Given the description of an element on the screen output the (x, y) to click on. 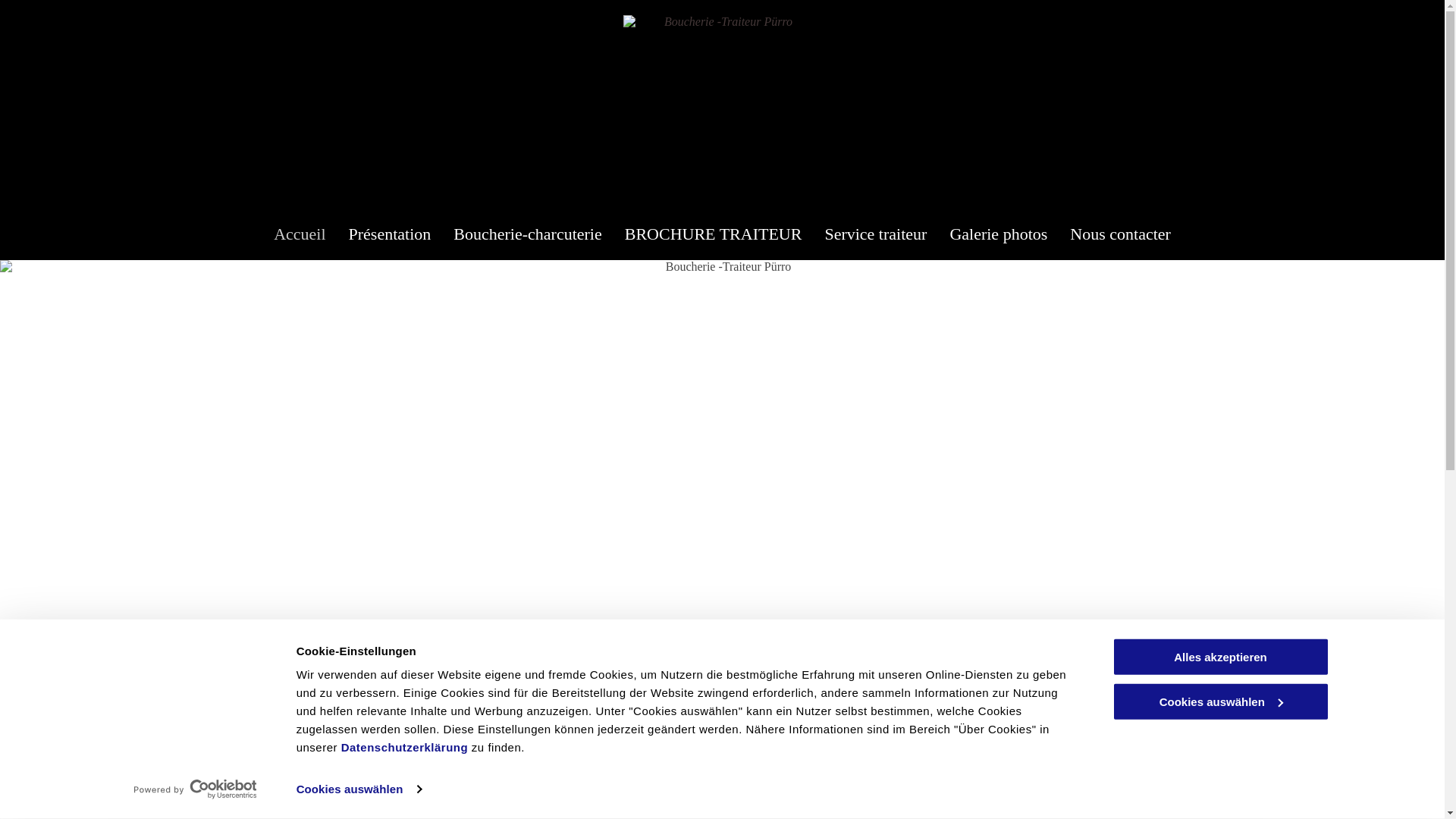
BROCHURE TRAITEUR Element type: text (713, 233)
Boucherie-charcuterie Element type: text (527, 233)
Accueil Element type: text (299, 233)
Nous contacter Element type: text (1120, 233)
Galerie photos Element type: text (998, 233)
Service traiteur Element type: text (875, 233)
Alles akzeptieren Element type: text (1219, 656)
